Given the description of an element on the screen output the (x, y) to click on. 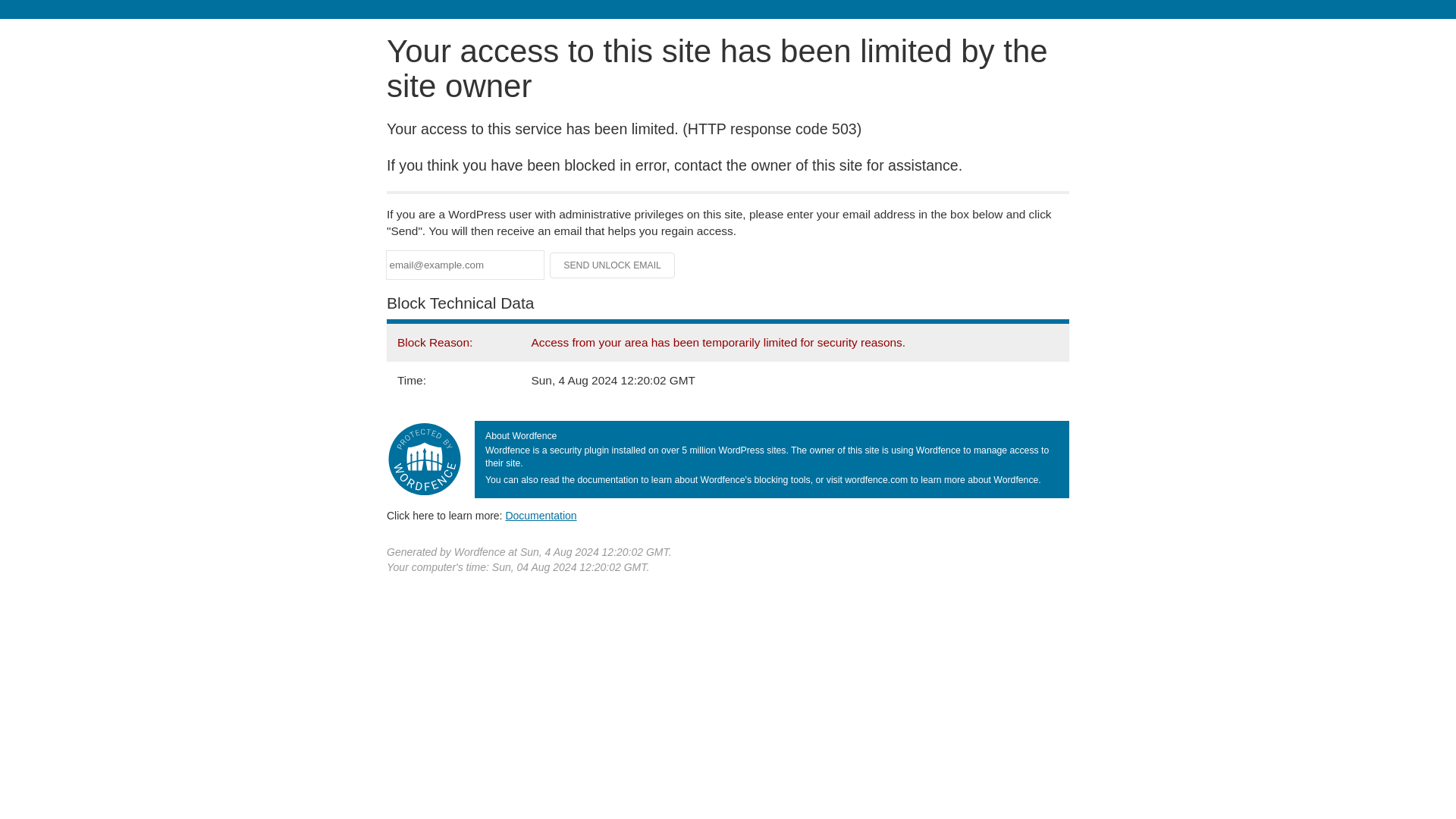
Send Unlock Email (612, 265)
Documentation (540, 515)
Send Unlock Email (612, 265)
